Given the description of an element on the screen output the (x, y) to click on. 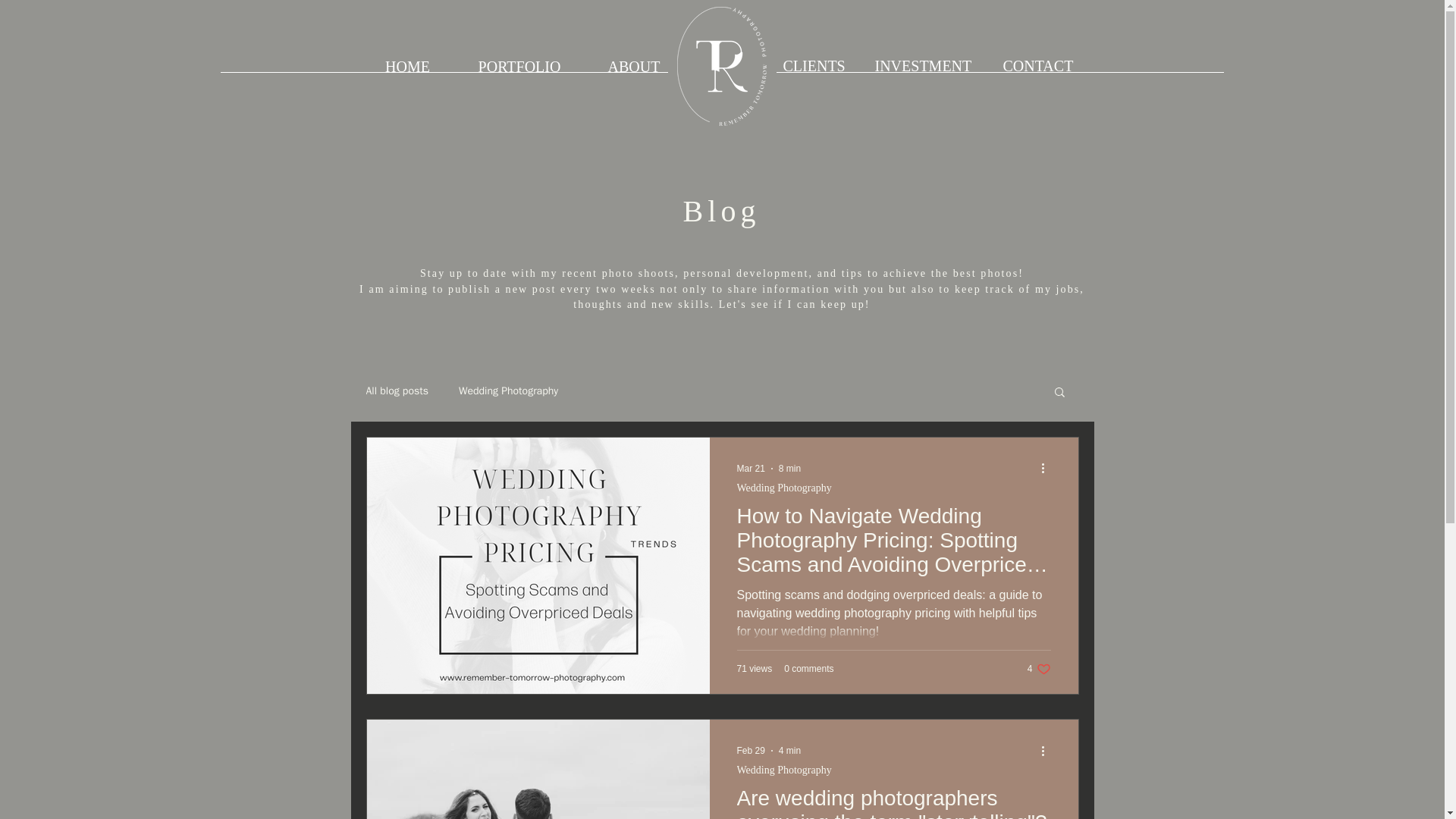
Wedding Photography (507, 391)
Wedding Photography (783, 487)
PORTFOLIO (518, 66)
HOME (406, 66)
Mar 21 (750, 468)
CONTACT (1042, 65)
All blog posts (396, 391)
CLIENTS (817, 65)
ABOUT (633, 66)
8 min (789, 468)
0 comments (1039, 668)
Wedding Photography (808, 668)
4 min (783, 769)
